Given the description of an element on the screen output the (x, y) to click on. 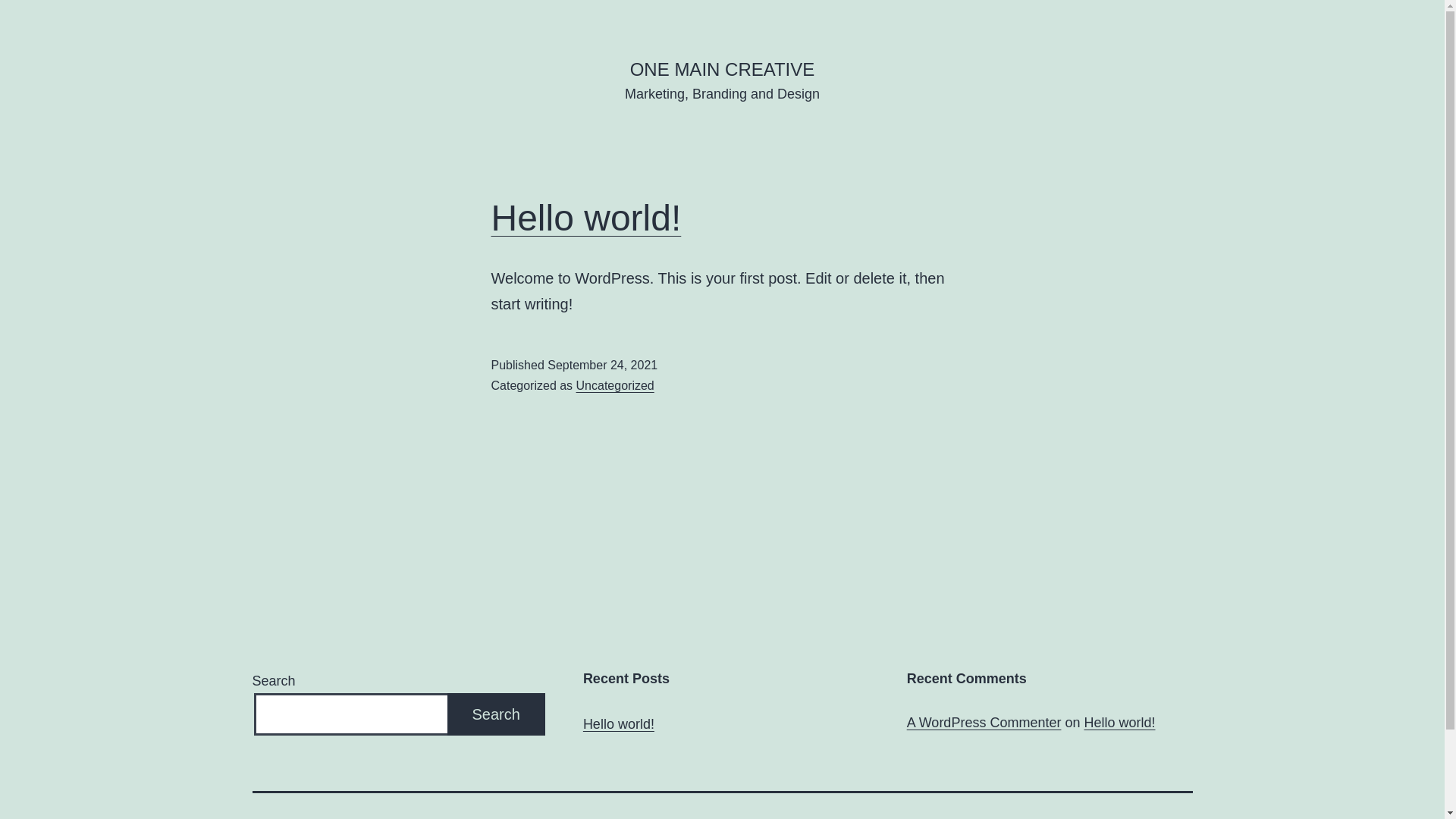
Hello world! Element type: text (1118, 722)
A WordPress Commenter Element type: text (983, 722)
Hello world! Element type: text (618, 724)
Hello world! Element type: text (586, 217)
Search Element type: text (496, 714)
Uncategorized Element type: text (615, 385)
